Given the description of an element on the screen output the (x, y) to click on. 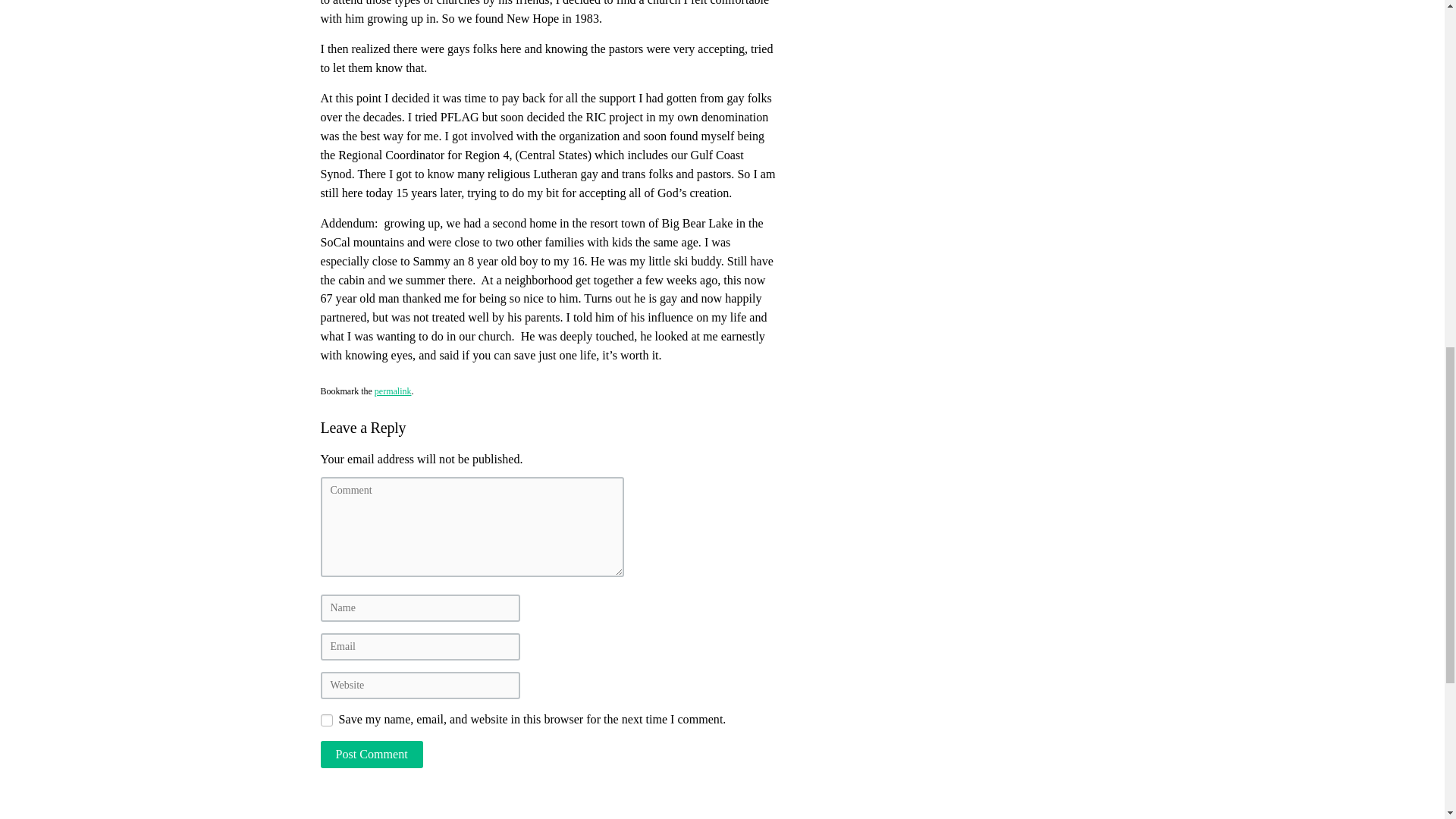
yes (325, 720)
Post Comment (371, 754)
Permalink to Profile: Heidi Good (393, 390)
Post Comment (371, 754)
permalink (393, 390)
